Given the description of an element on the screen output the (x, y) to click on. 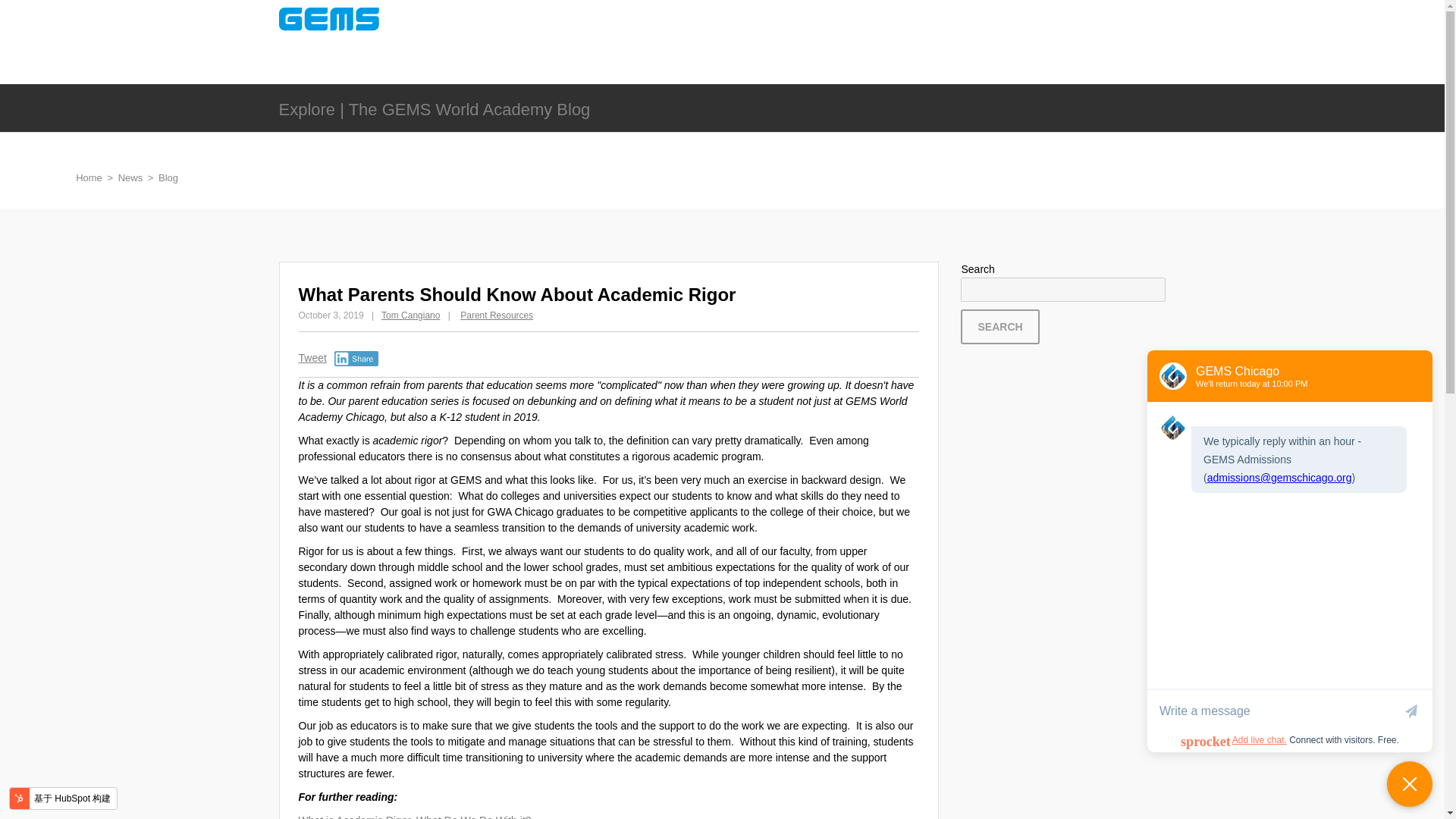
What is Academic Rigor, What Do We Do With it? (414, 816)
Share (356, 357)
News (129, 177)
Parent Resources (496, 314)
Tom Cangiano (410, 314)
Home (88, 177)
SEARCH (999, 326)
Tweet (312, 357)
